Given the description of an element on the screen output the (x, y) to click on. 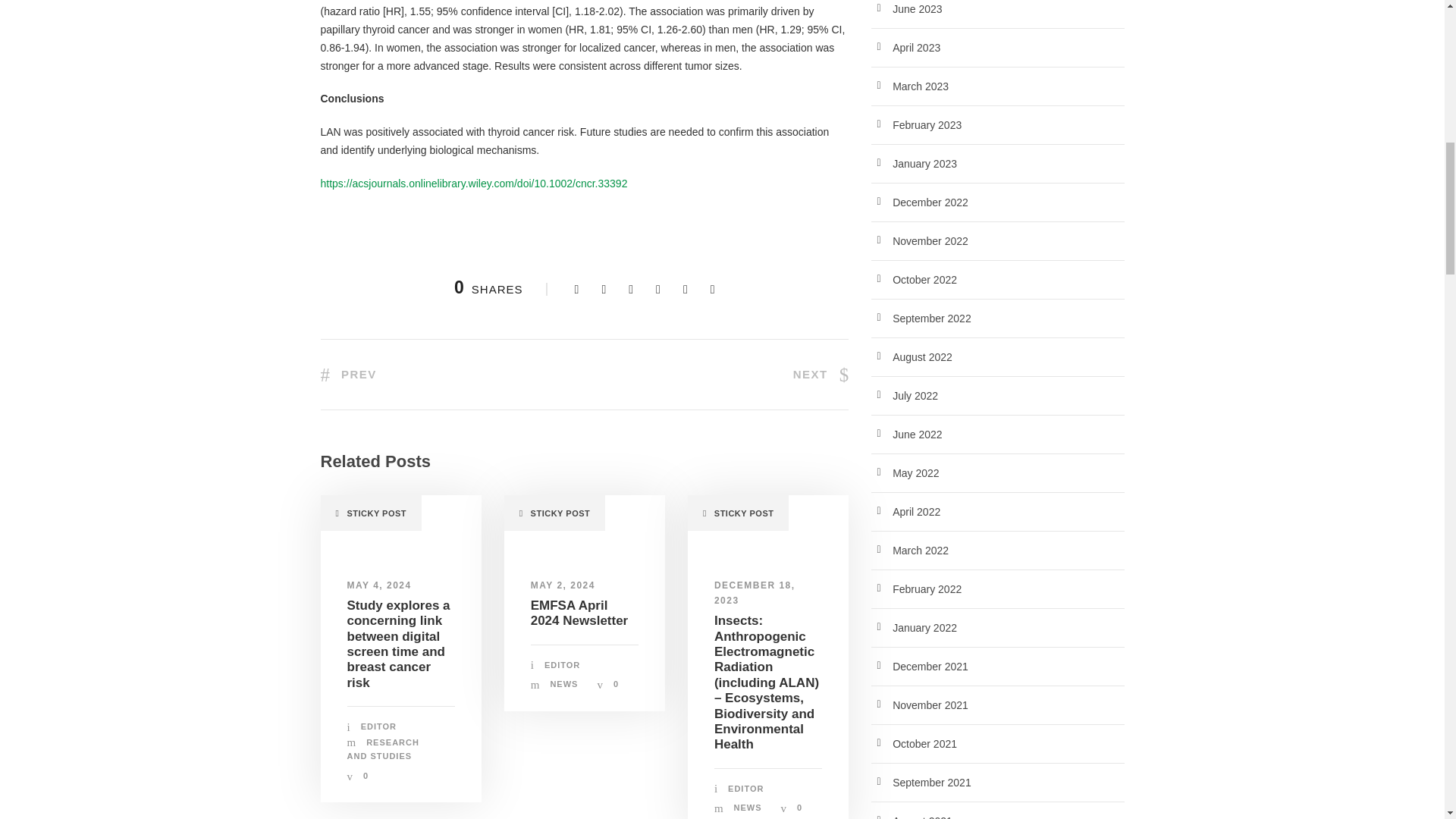
Posts by Editor (745, 788)
Posts by Editor (378, 726)
Posts by Editor (561, 664)
